Given the description of an element on the screen output the (x, y) to click on. 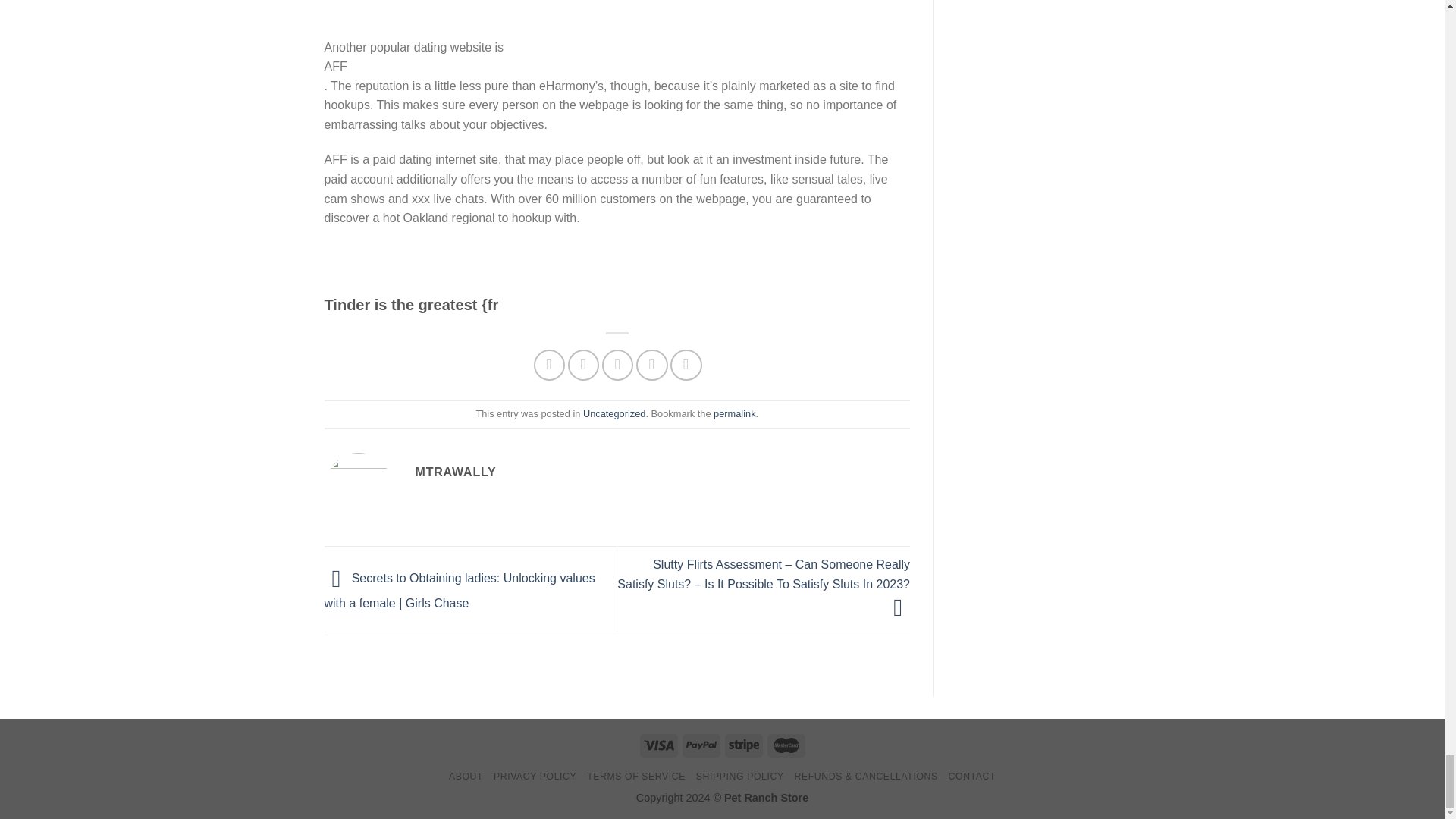
Email to a Friend (617, 364)
permalink (734, 413)
Uncategorized (614, 413)
Share on Facebook (549, 364)
Pin on Pinterest (651, 364)
Share on Twitter (582, 364)
Share on LinkedIn (685, 364)
